Given the description of an element on the screen output the (x, y) to click on. 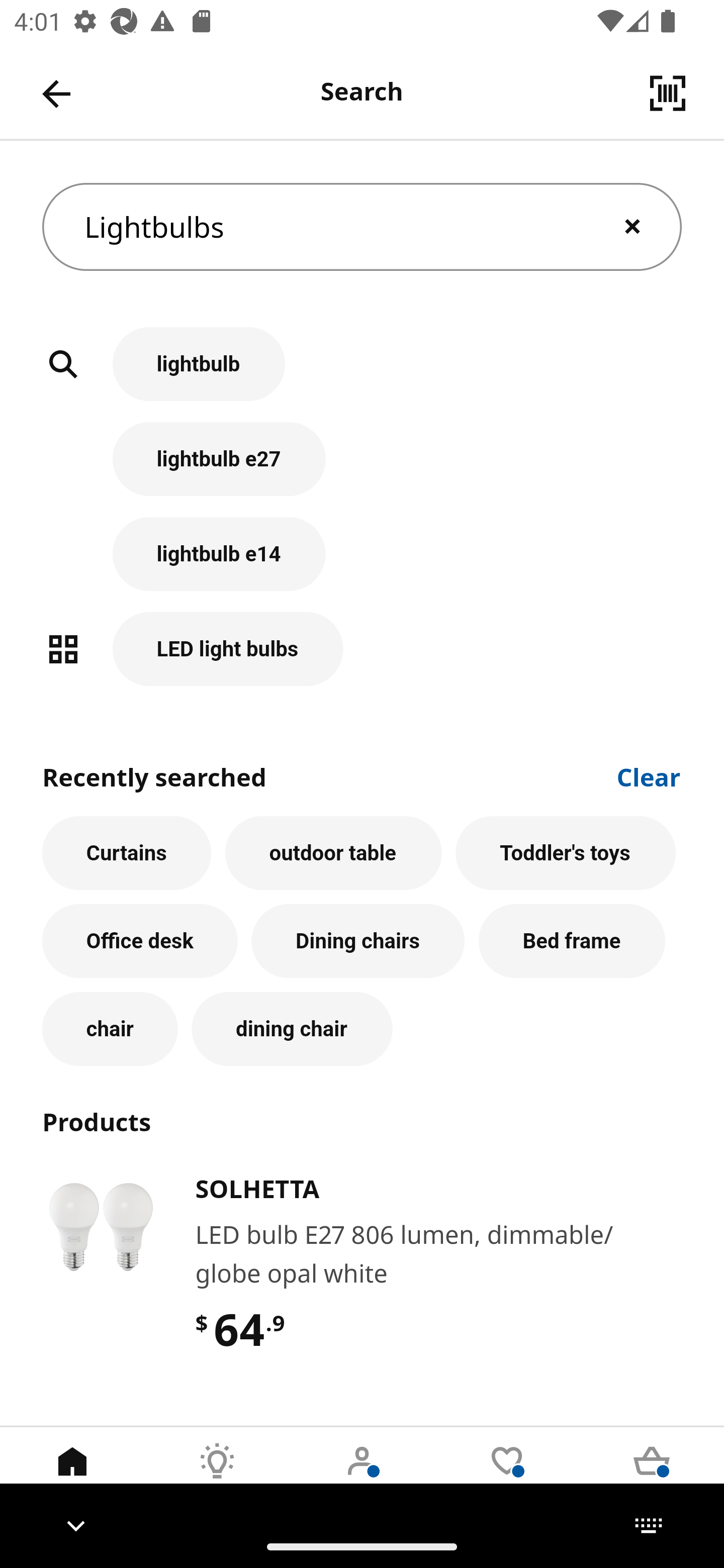
Lightbulbs (361, 227)
lightbulb (361, 374)
lightbulb e27 (361, 469)
lightbulb e14 (361, 564)
LED light bulbs (361, 648)
Clear (649, 774)
Curtains (126, 853)
outdoor table (333, 853)
Toddler's toys (565, 853)
Office desk (139, 941)
Dining chairs (357, 941)
Bed frame (571, 941)
chair (109, 1029)
dining chair (291, 1029)
Home
Tab 1 of 5 (72, 1476)
Inspirations
Tab 2 of 5 (216, 1476)
User
Tab 3 of 5 (361, 1476)
Wishlist
Tab 4 of 5 (506, 1476)
Cart
Tab 5 of 5 (651, 1476)
